Given the description of an element on the screen output the (x, y) to click on. 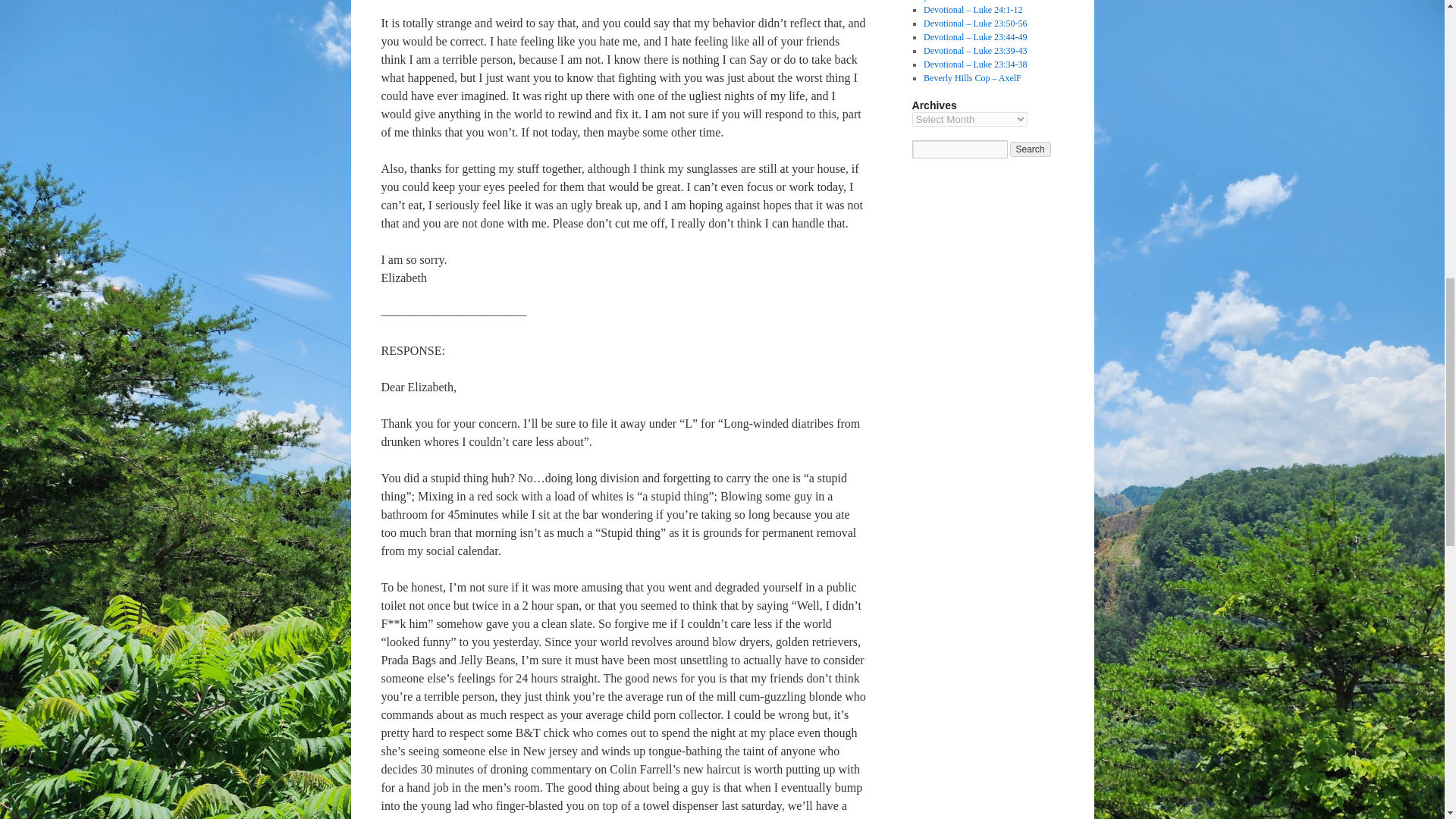
Search (1030, 148)
